Given the description of an element on the screen output the (x, y) to click on. 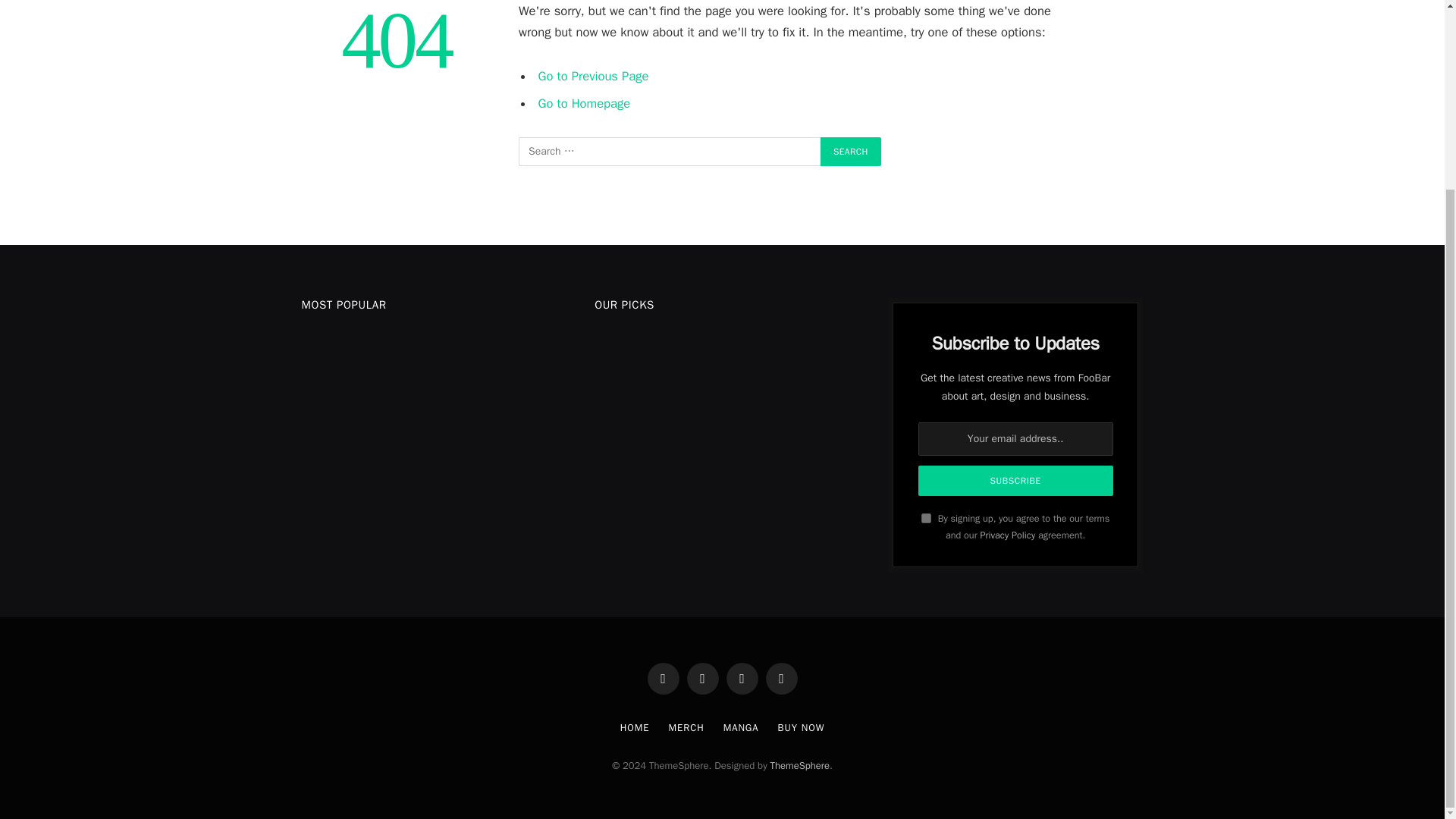
Subscribe (1015, 481)
Facebook (663, 678)
Go to Homepage (584, 103)
HOME (634, 727)
Search (850, 151)
Search (850, 151)
Go to Previous Page (593, 75)
MERCH (685, 727)
Subscribe (1015, 481)
Search (850, 151)
Instagram (742, 678)
on (926, 518)
Privacy Policy (1007, 535)
Pinterest (781, 678)
